Given the description of an element on the screen output the (x, y) to click on. 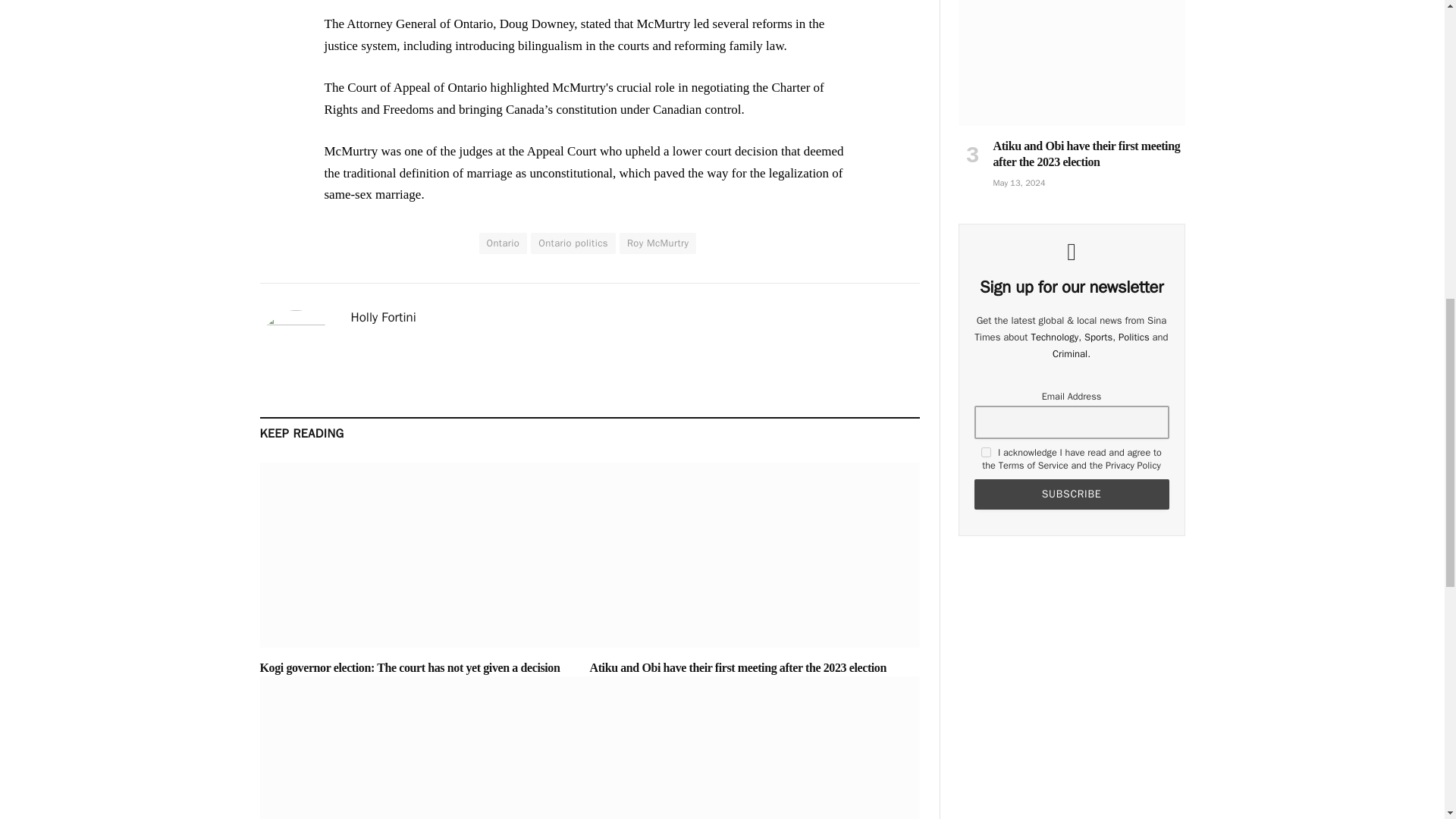
Subscribe (1071, 494)
on (986, 452)
